Given the description of an element on the screen output the (x, y) to click on. 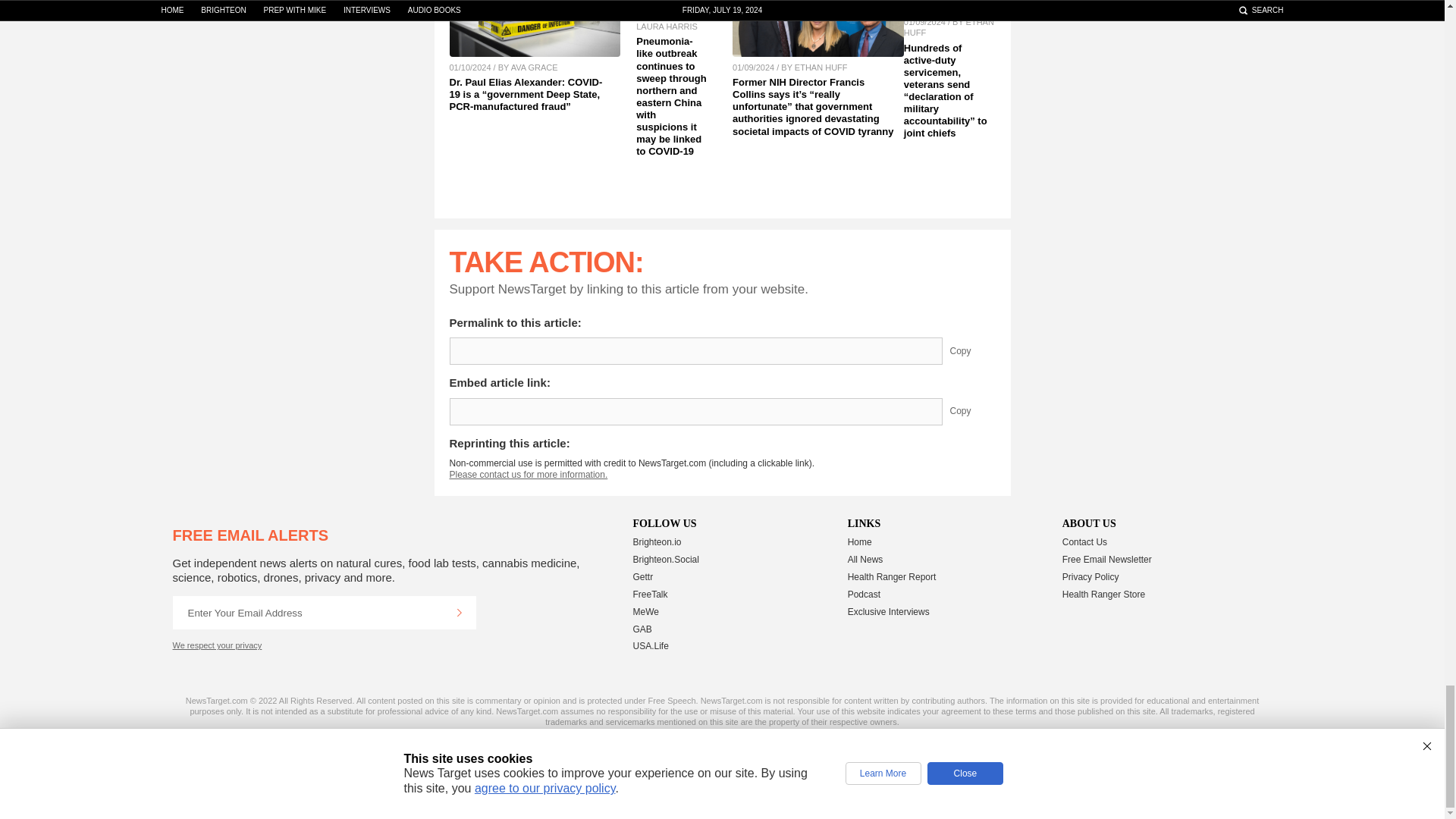
Continue (459, 612)
Copy Permalink (971, 350)
Copy Embed Link (971, 411)
